Given the description of an element on the screen output the (x, y) to click on. 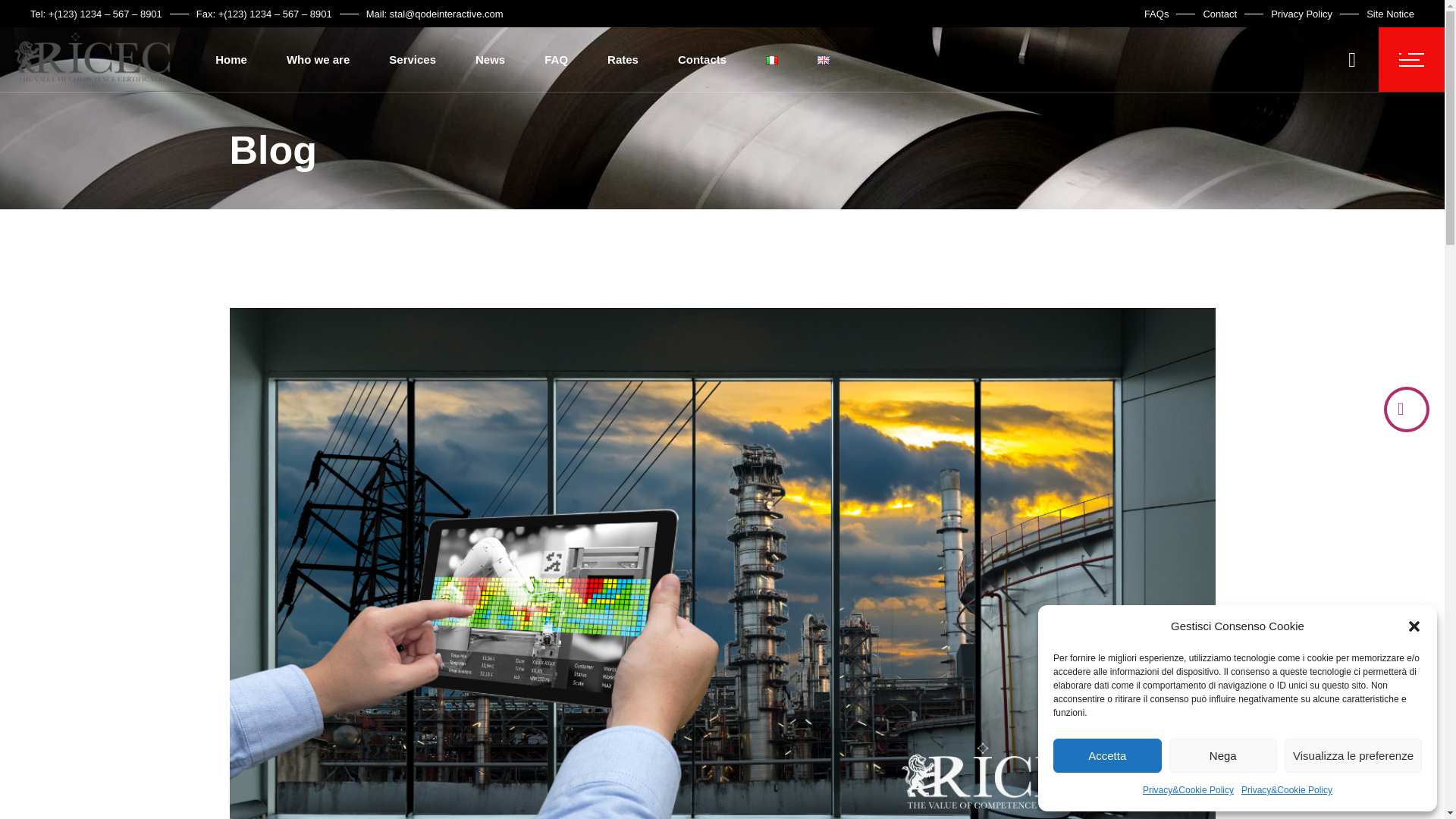
Who we are (317, 59)
Site Notice (1390, 13)
Privacy Policy (1301, 13)
Nega (1223, 755)
FAQs (1156, 13)
Visualizza le preferenze (1353, 755)
Contact (1219, 13)
Accetta (1106, 755)
